Given the description of an element on the screen output the (x, y) to click on. 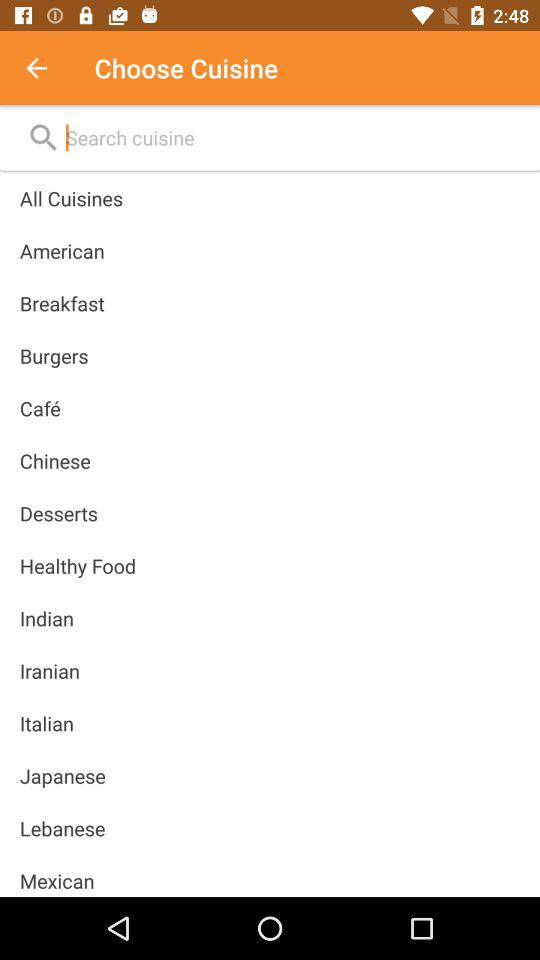
scroll until italian item (46, 723)
